Given the description of an element on the screen output the (x, y) to click on. 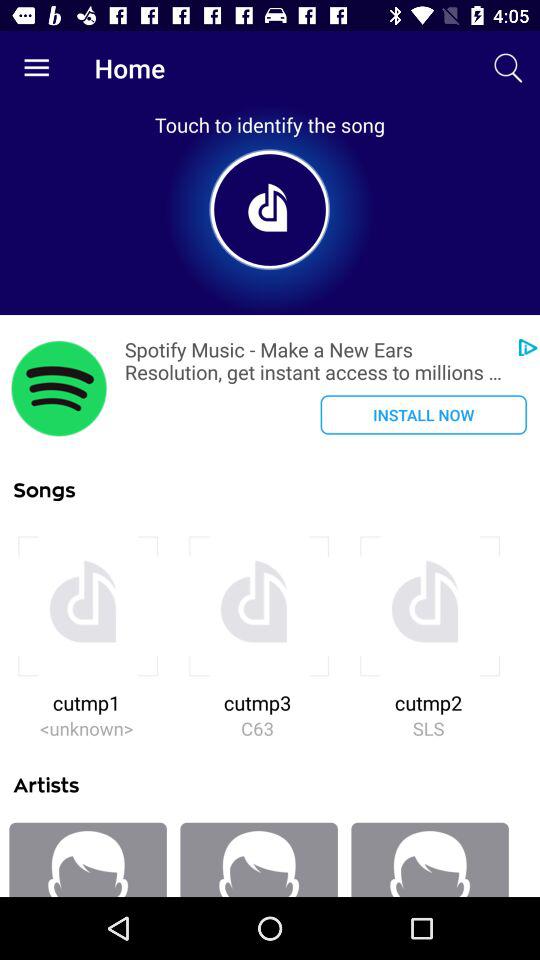
select the item below touch to identify icon (59, 388)
